Given the description of an element on the screen output the (x, y) to click on. 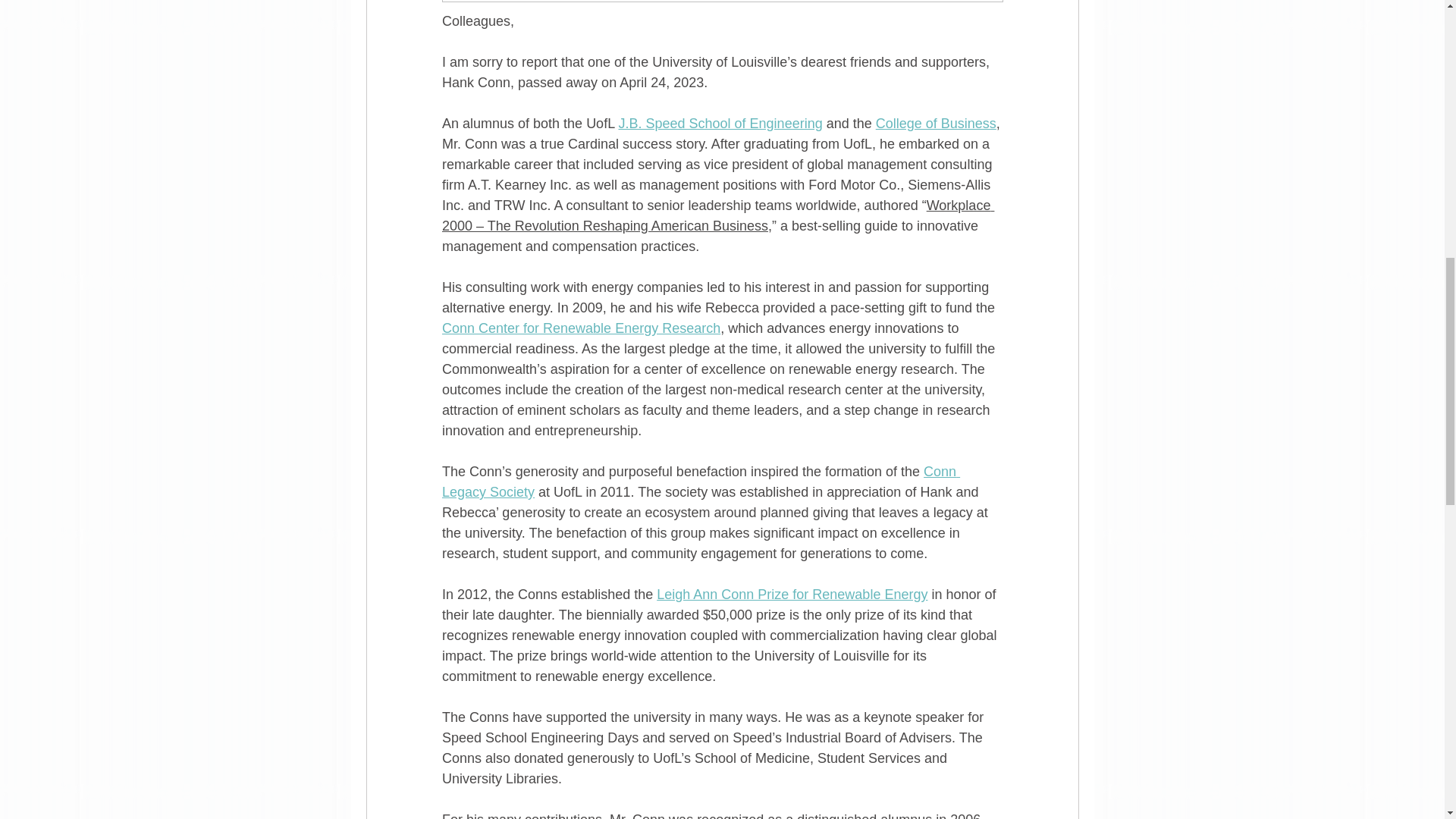
College of Business (935, 123)
J.B. Speed School of Engineering (719, 123)
Leigh Ann Conn Prize for Renewable Energy (791, 594)
Conn Legacy Society (700, 481)
Conn Center for Renewable Energy Research (580, 328)
